Given the description of an element on the screen output the (x, y) to click on. 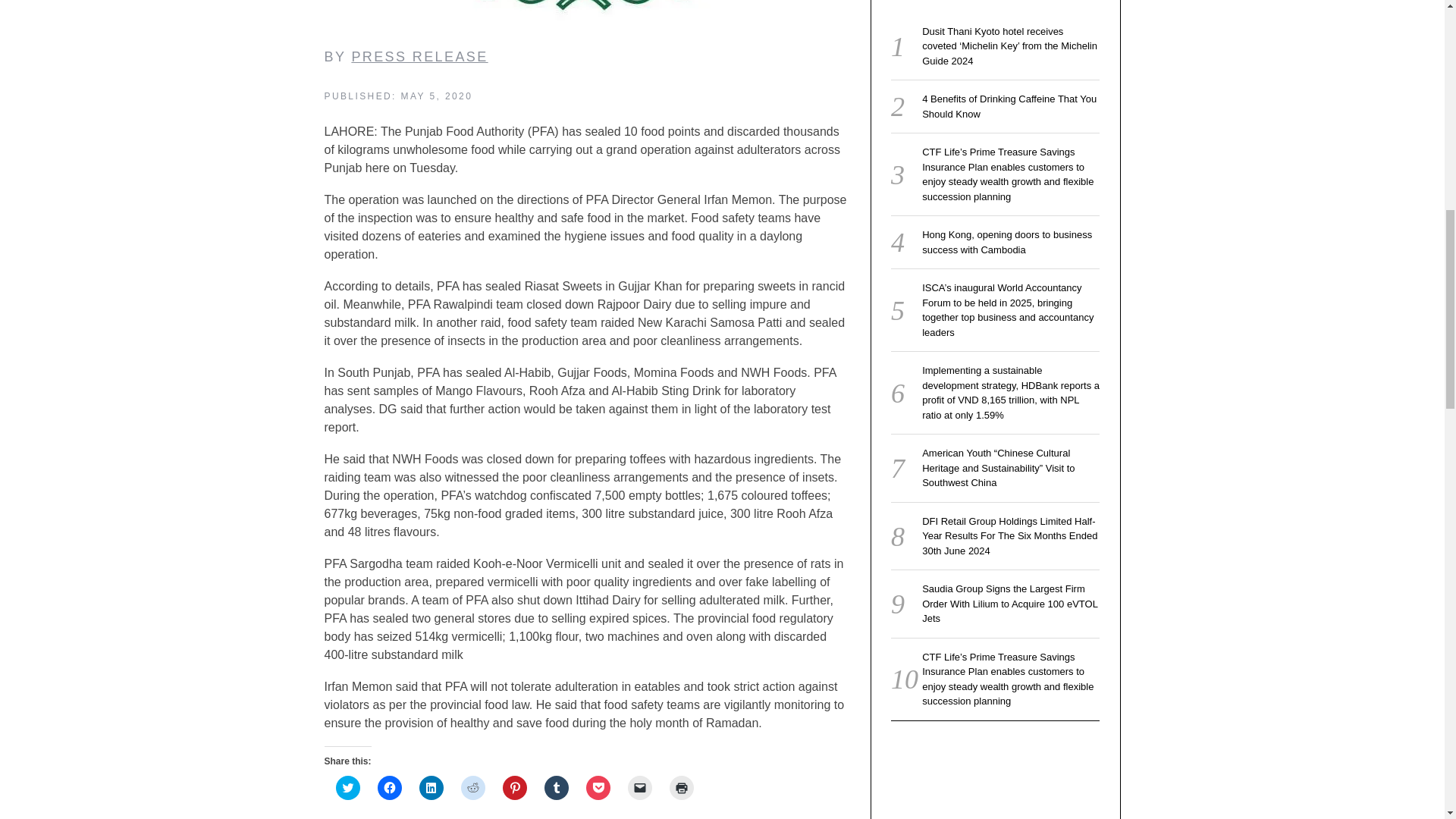
Click to share on Reddit (472, 787)
Posts by Press Release (418, 56)
Click to share on LinkedIn (430, 787)
Click to share on Pinterest (513, 787)
Click to share on Twitter (346, 787)
Click to print (680, 787)
Click to share on Facebook (389, 787)
Click to share on Pocket (597, 787)
Click to email a link to a friend (639, 787)
Click to share on Tumblr (556, 787)
